Given the description of an element on the screen output the (x, y) to click on. 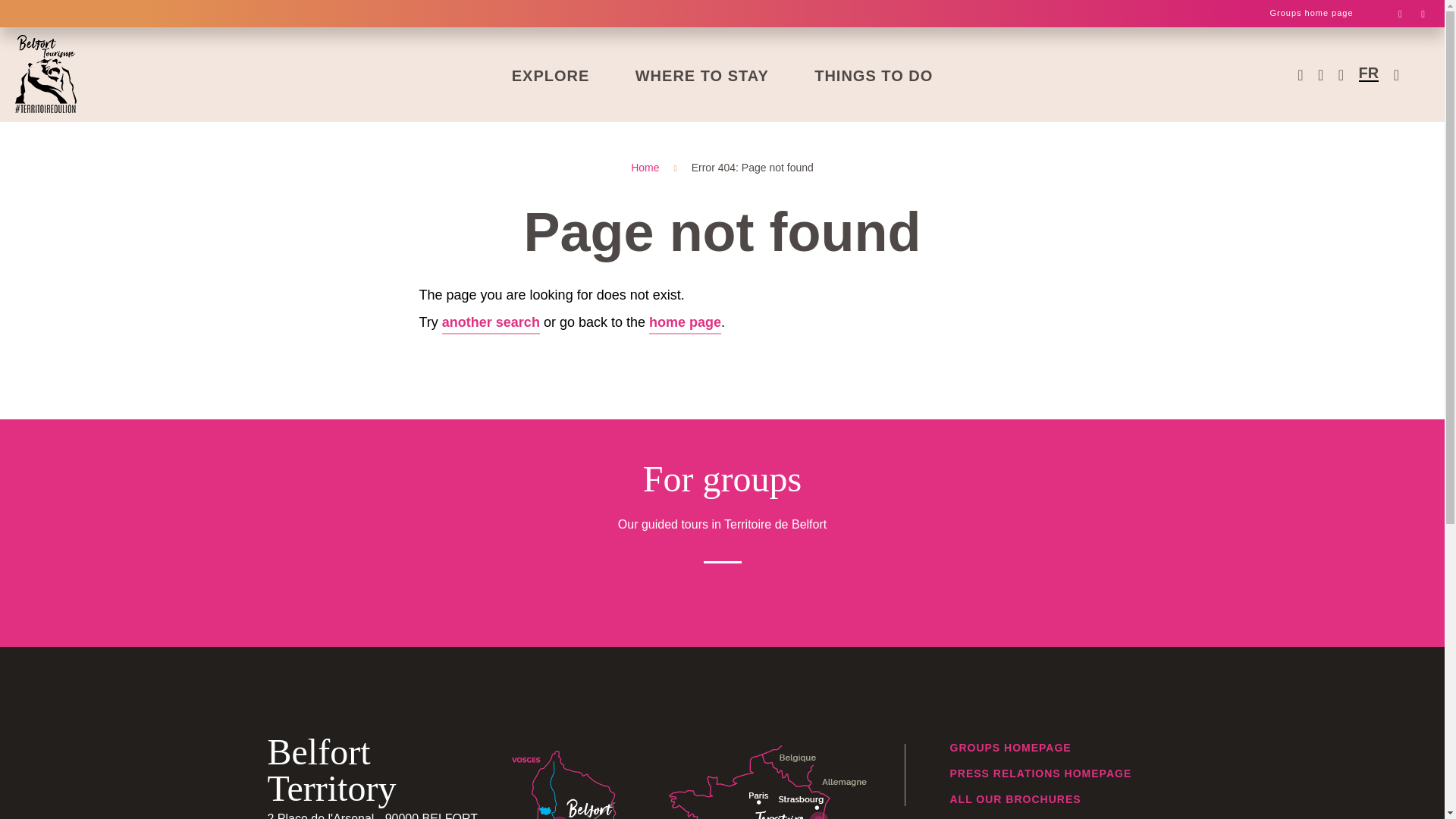
Home (644, 167)
WHERE TO STAY (702, 75)
EXPLORE (550, 75)
Groups home page (1310, 13)
THINGS TO DO (1310, 13)
